Given the description of an element on the screen output the (x, y) to click on. 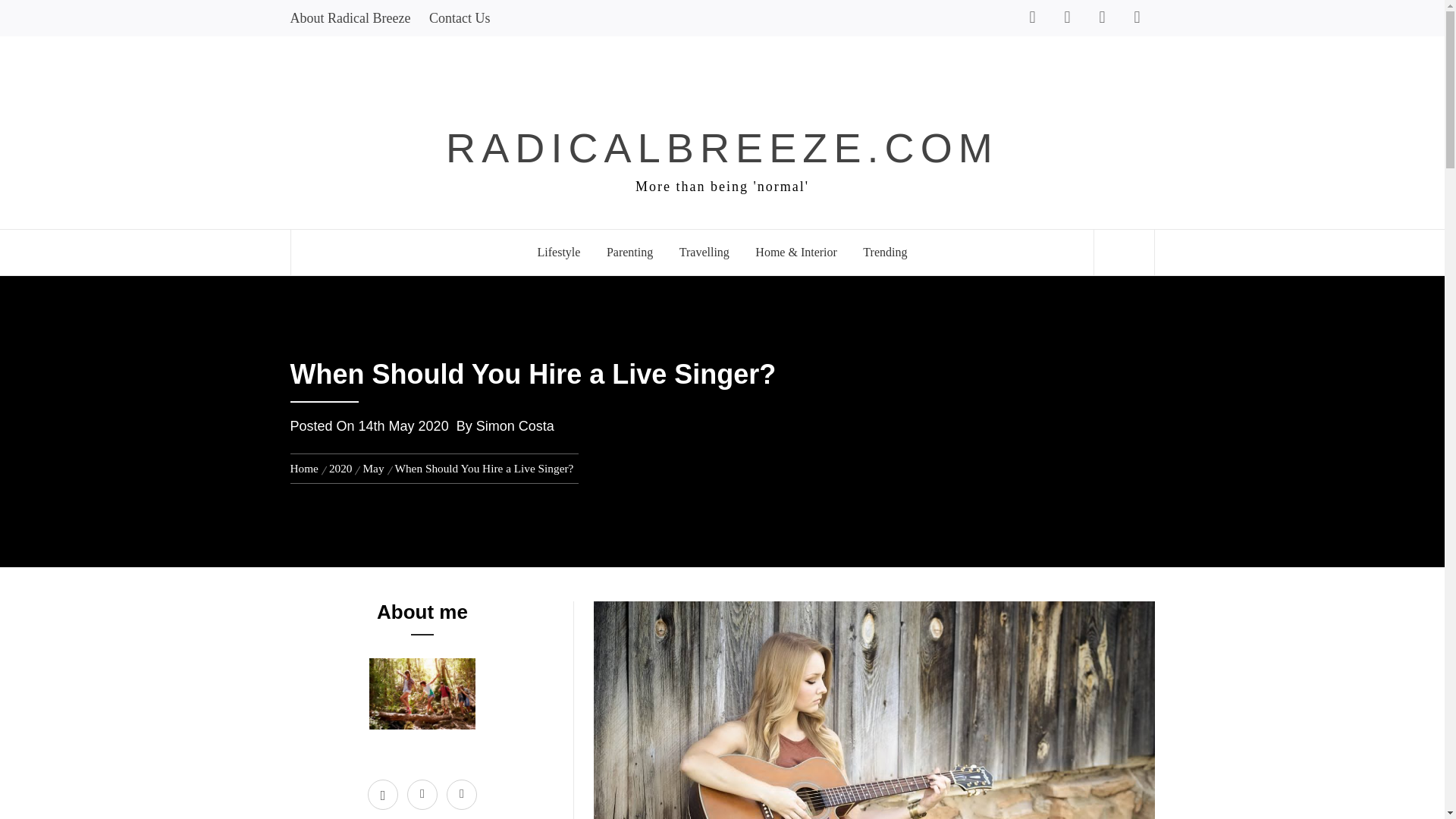
Lifestyle (558, 252)
Trending (884, 252)
Travelling (704, 252)
Search (797, 34)
Simon Costa (515, 426)
Contact Us (459, 18)
Parenting (629, 252)
About Radical Breeze (353, 18)
Home (306, 468)
RADICALBREEZE.COM (721, 147)
14th May 2020 (403, 426)
May (372, 468)
2020 (340, 468)
